Given the description of an element on the screen output the (x, y) to click on. 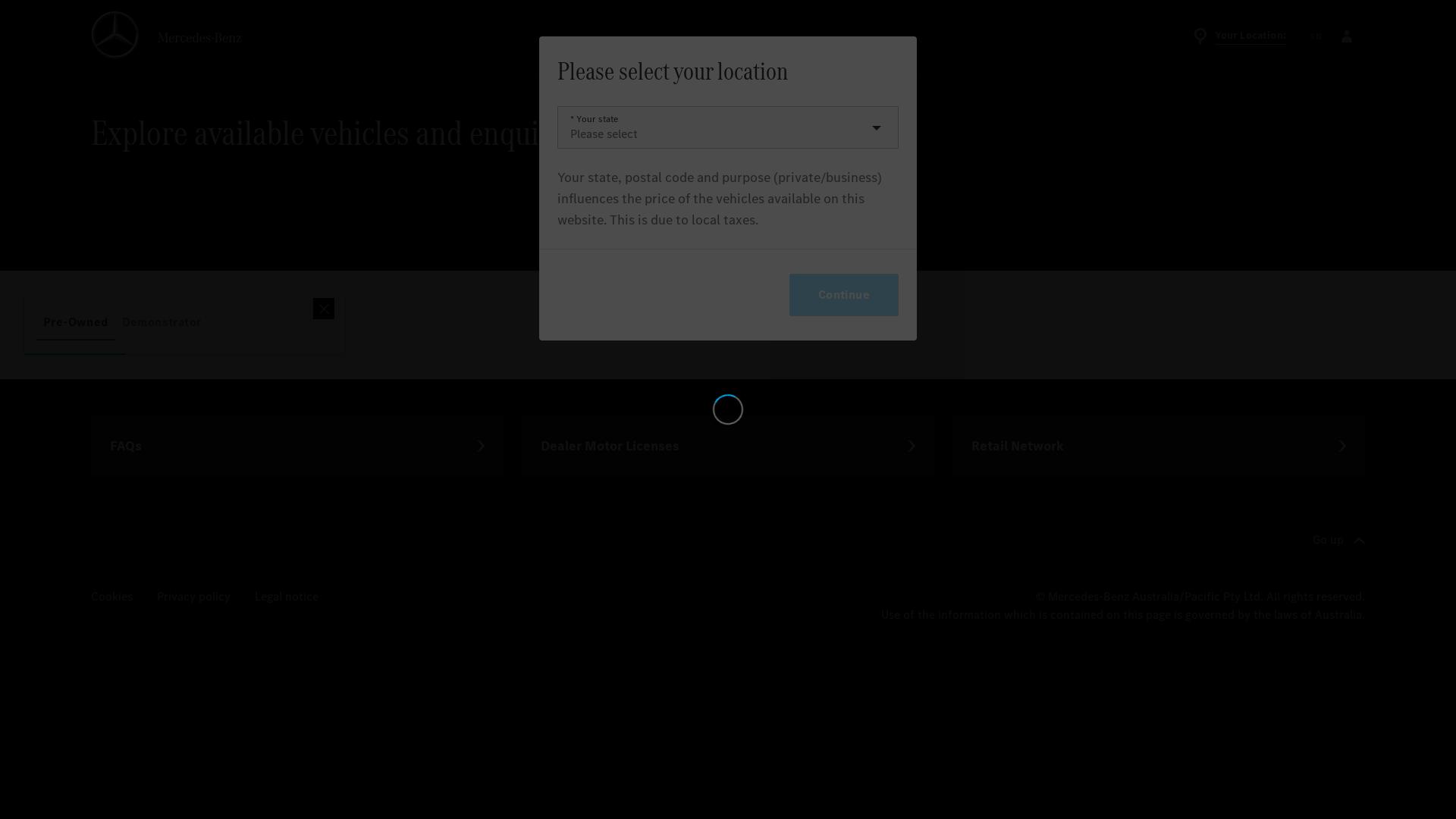
Continue Element type: text (843, 294)
Privacy policy Element type: text (193, 596)
Pre-Owned Element type: text (75, 322)
Legal notice Element type: text (286, 596)
Dealer Motor Licenses Element type: text (727, 445)
EN Element type: text (1316, 36)
Demonstrator Element type: text (161, 322)
FAQs Element type: text (297, 445)
Go up Element type: text (1338, 540)
Retail Network Element type: text (1158, 445)
Your Location: Element type: text (1239, 36)
Cookies Element type: text (111, 596)
